Given the description of an element on the screen output the (x, y) to click on. 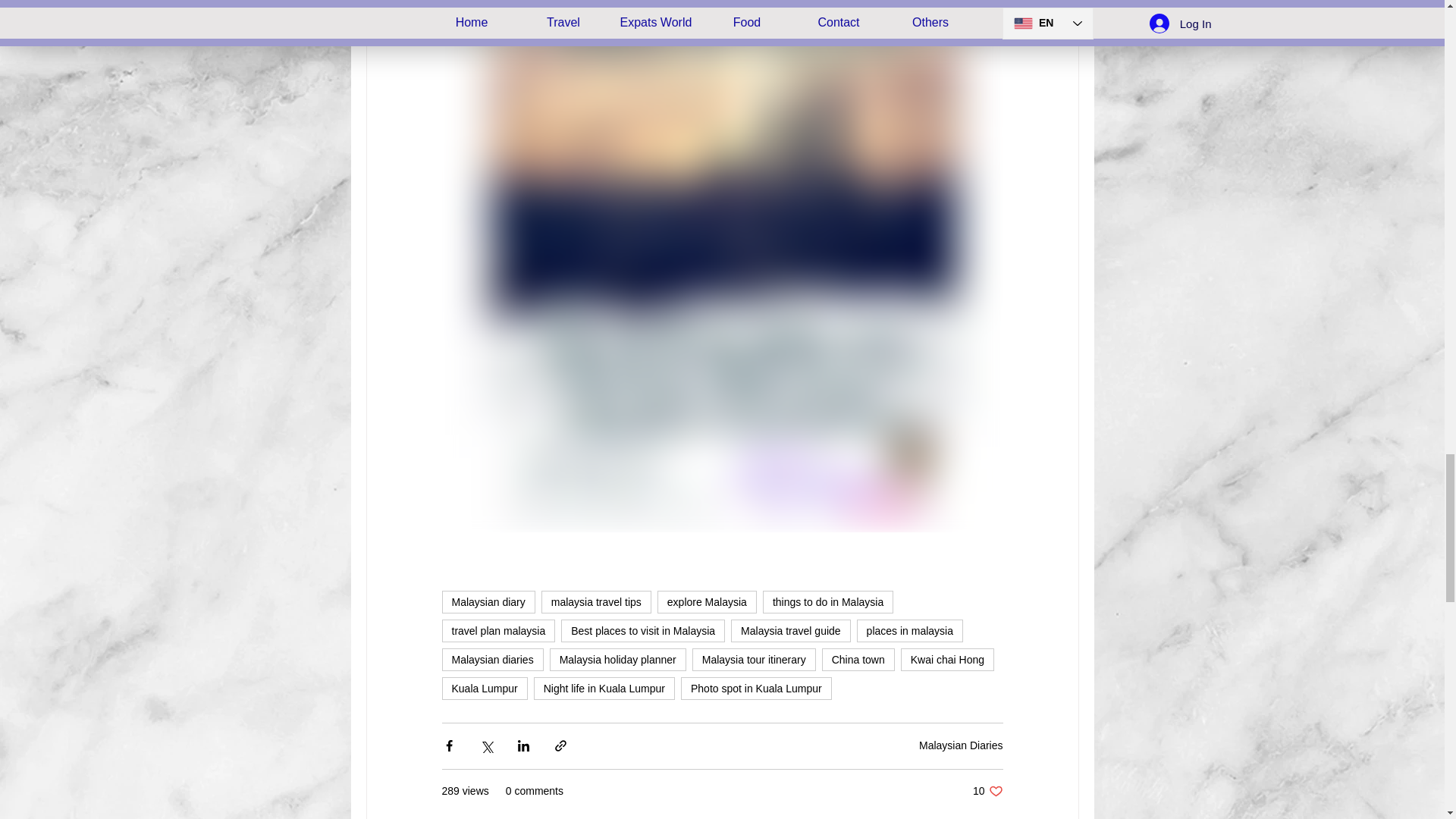
travel plan malaysia (497, 630)
malaysia travel tips (595, 601)
places in malaysia (909, 630)
Best places to visit in Malaysia (642, 630)
things to do in Malaysia (827, 601)
Malaysian diaries (492, 659)
Malaysia holiday planner (617, 659)
Malaysia travel guide (790, 630)
Malaysian diary (487, 601)
explore Malaysia (707, 601)
